Given the description of an element on the screen output the (x, y) to click on. 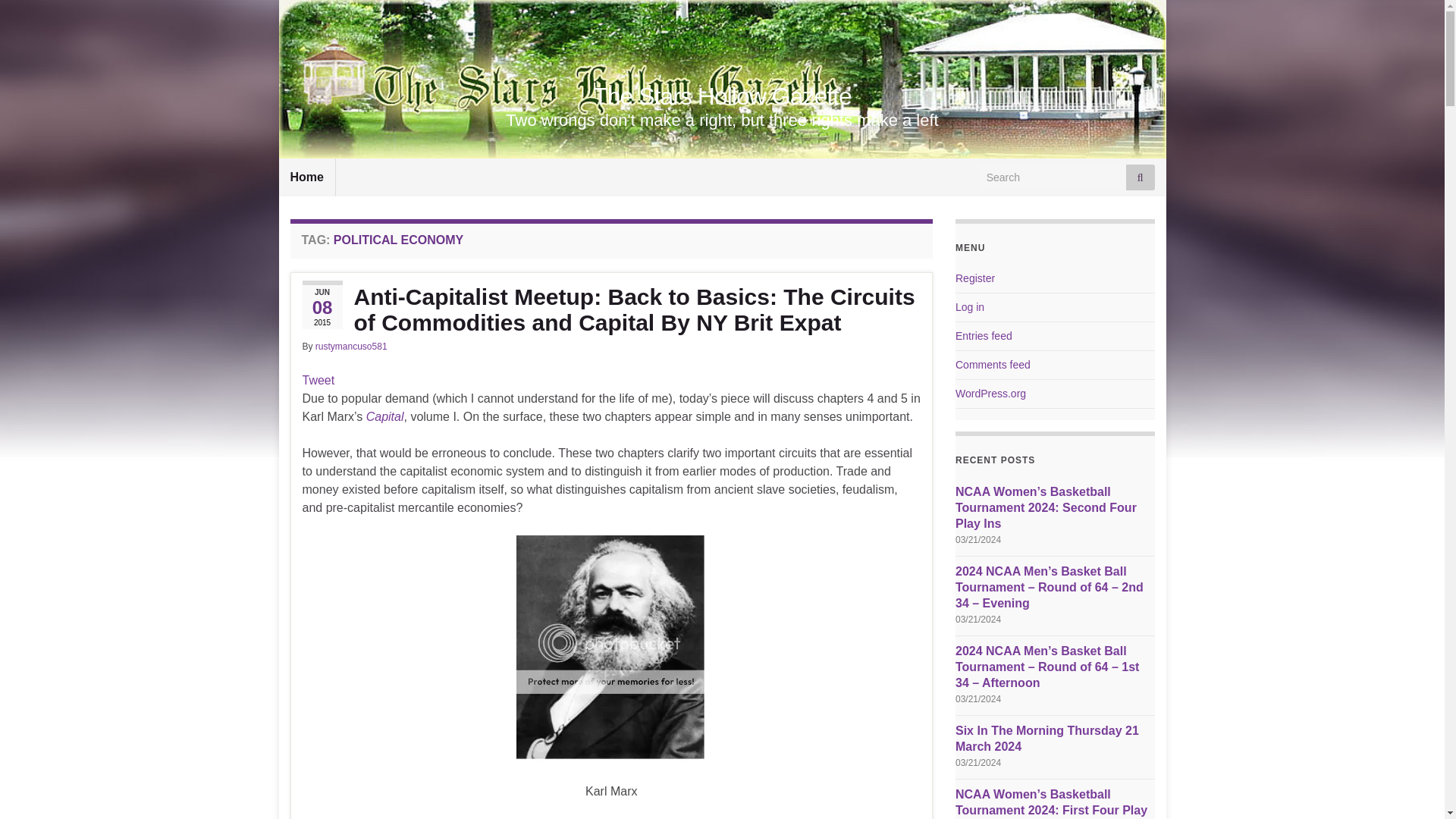
Go back to the front page (721, 95)
Tweet (317, 379)
rustymancuso581 (351, 346)
The Stars Hollow Gazette (721, 95)
Home (306, 177)
Capital (385, 416)
